Given the description of an element on the screen output the (x, y) to click on. 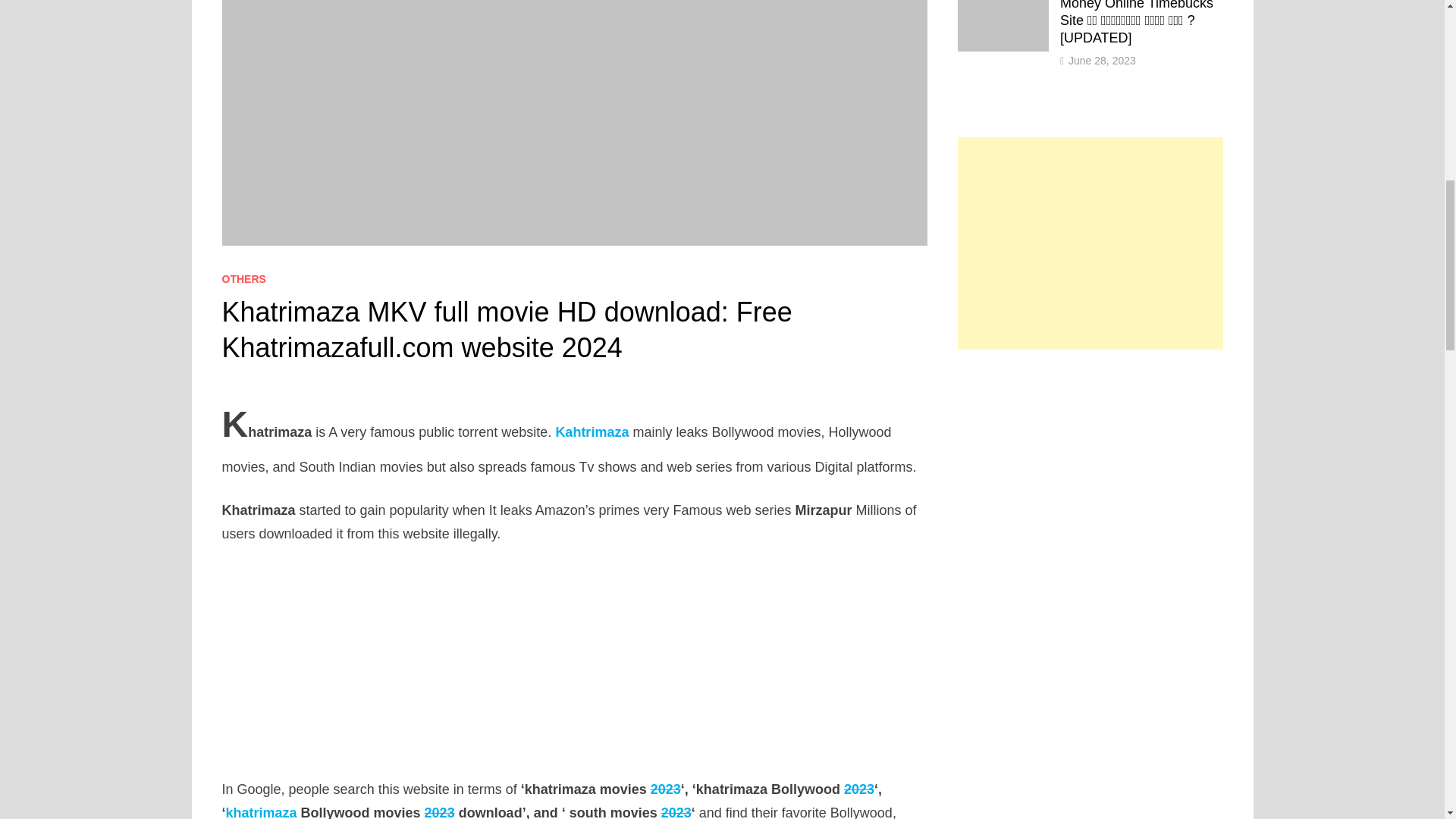
2023 (859, 789)
2023 (676, 812)
2023 (439, 812)
Kahtrimaza (592, 432)
OTHERS (242, 278)
2023 (665, 789)
khatrimaza (261, 812)
